Given the description of an element on the screen output the (x, y) to click on. 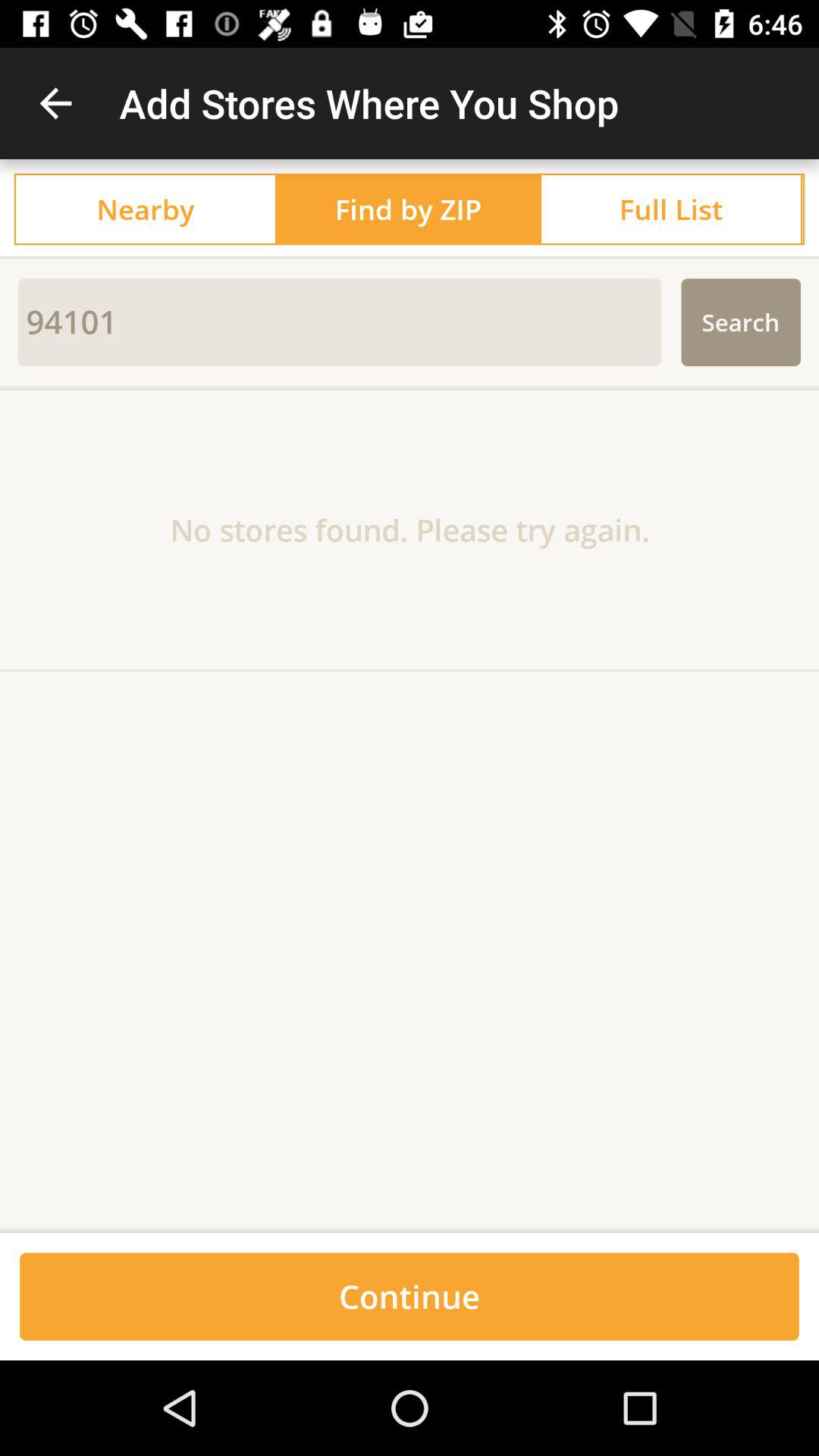
click the item next to add stores where icon (55, 103)
